Given the description of an element on the screen output the (x, y) to click on. 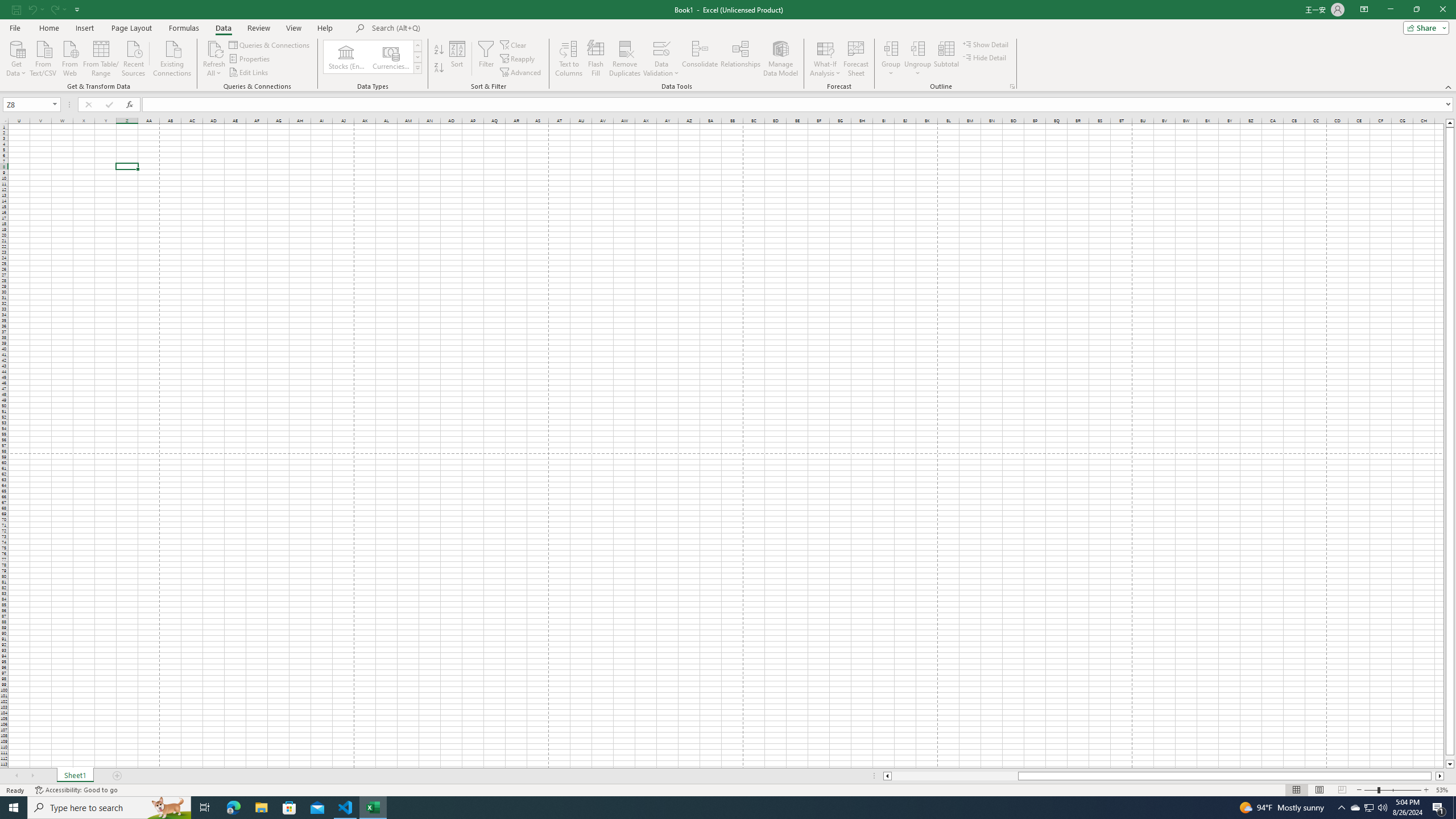
AutomationID: ConvertToLinkedEntity (372, 56)
Flash Fill (595, 58)
Text to Columns... (568, 58)
Forecast Sheet (856, 58)
Reapply (517, 58)
Relationships (740, 58)
